Given the description of an element on the screen output the (x, y) to click on. 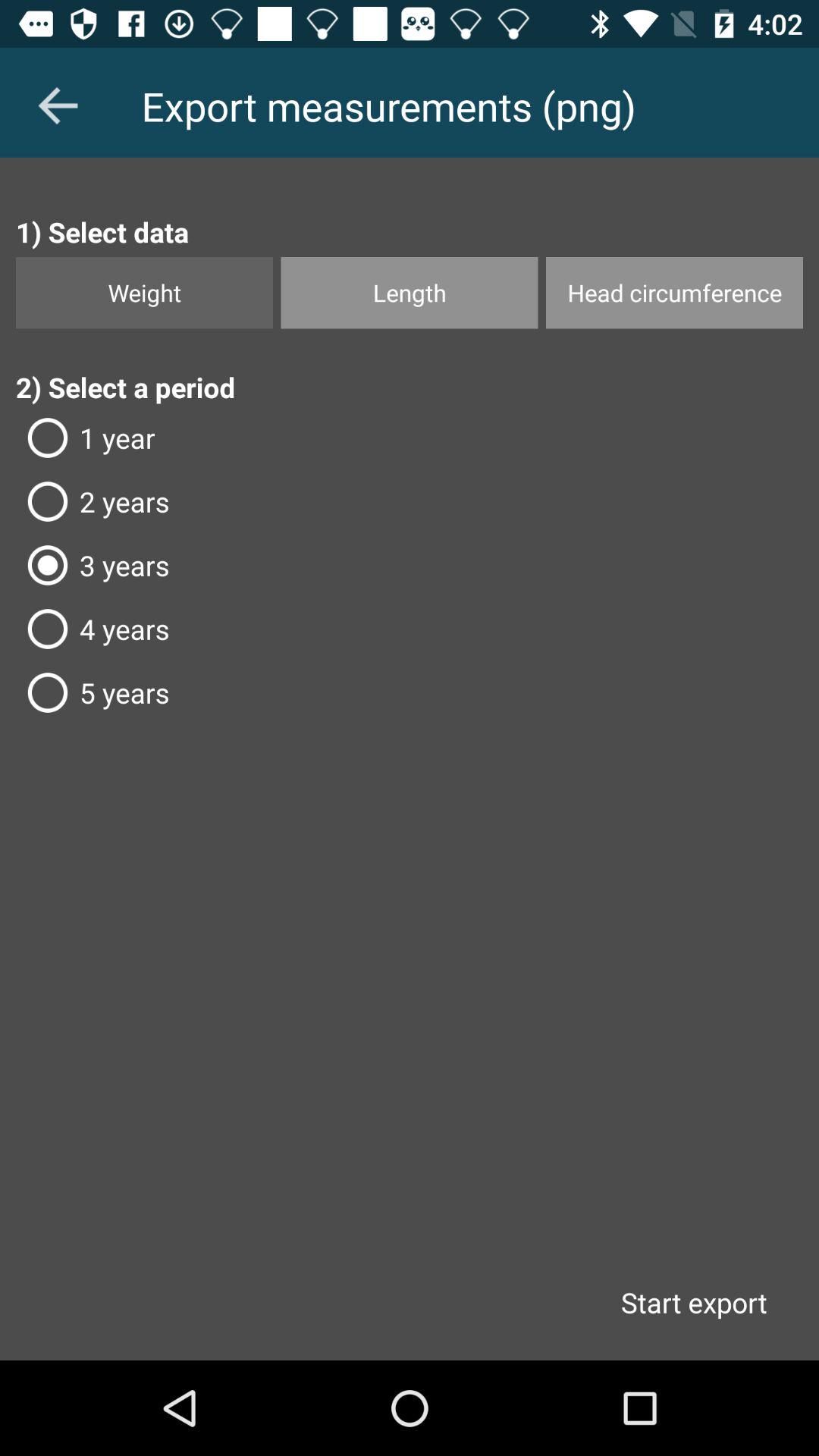
open item above the 2 select a (409, 292)
